Given the description of an element on the screen output the (x, y) to click on. 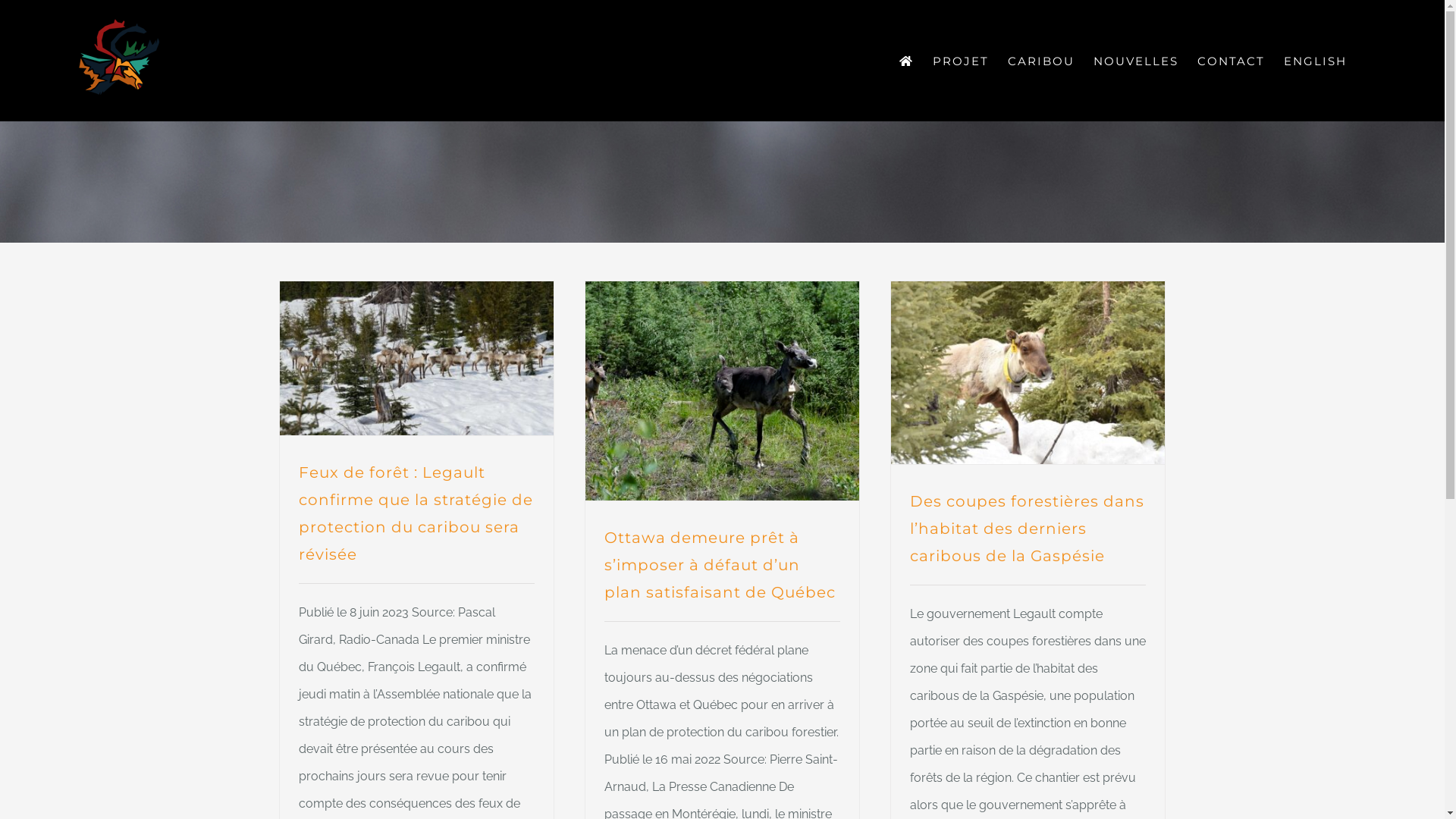
CARIBOU Element type: text (1040, 60)
PROJET Element type: text (960, 60)
CONTACT Element type: text (1230, 60)
NOUVELLES Element type: text (1135, 60)
ENGLISH Element type: text (1314, 60)
